Given the description of an element on the screen output the (x, y) to click on. 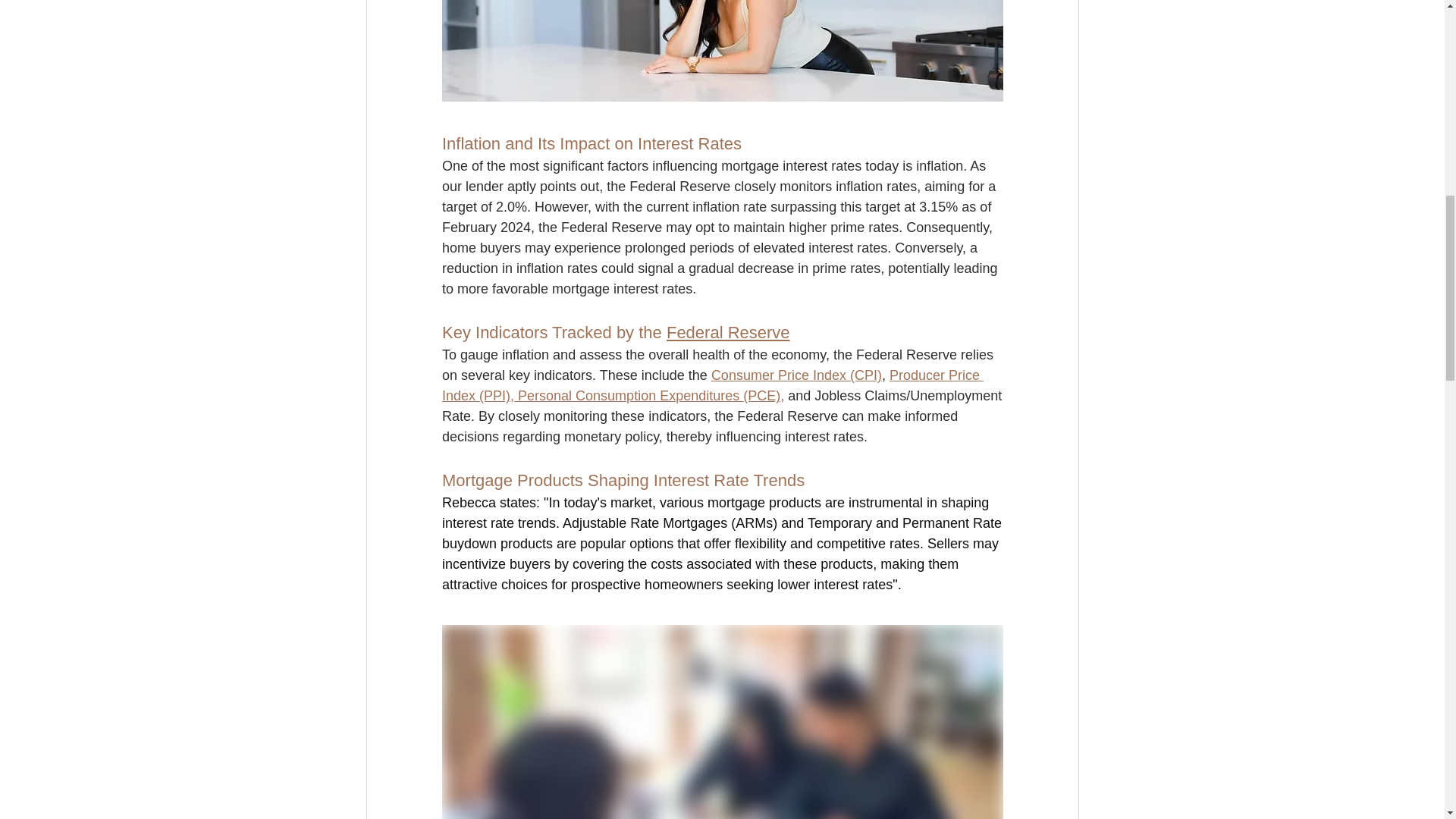
Federal Reserve (727, 332)
